Given the description of an element on the screen output the (x, y) to click on. 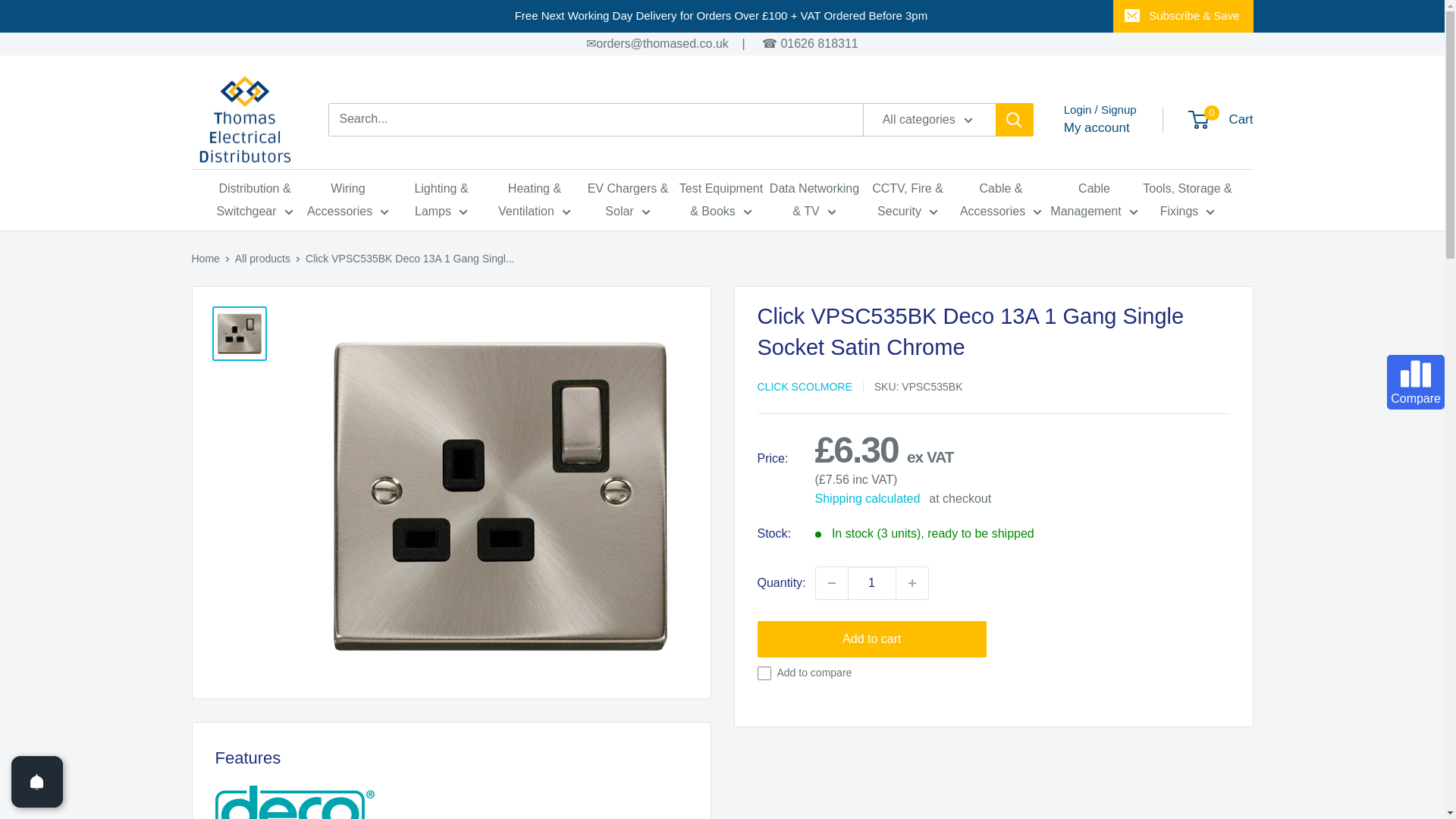
Increase quantity by 1 (912, 582)
Compare (1415, 381)
Decrease quantity by 1 (831, 582)
01626 818311 (818, 42)
1 (871, 582)
